Given the description of an element on the screen output the (x, y) to click on. 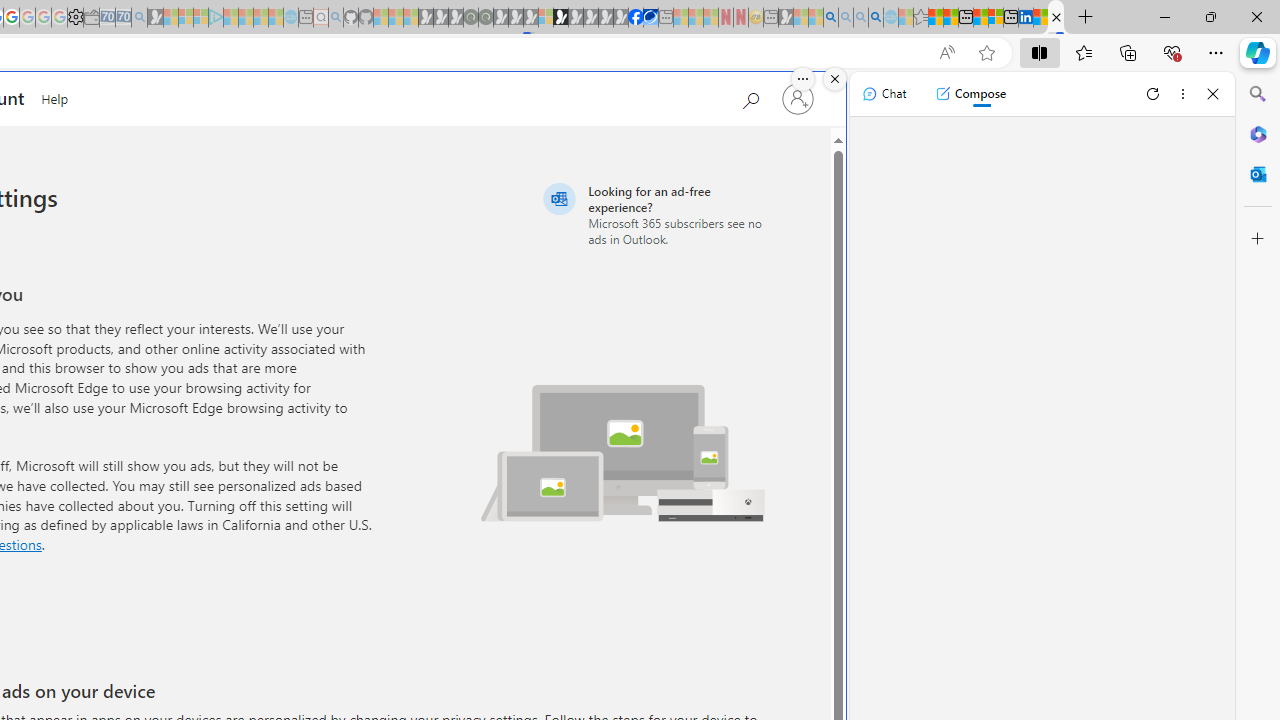
Search Microsoft.com (750, 97)
Wallet - Sleeping (91, 17)
Help (55, 96)
More options. (803, 79)
AQI & Health | AirNow.gov (650, 17)
Bing Real Estate - Home sales and rental listings - Sleeping (139, 17)
Google Chrome Internet Browser Download - Search Images (876, 17)
